Given the description of an element on the screen output the (x, y) to click on. 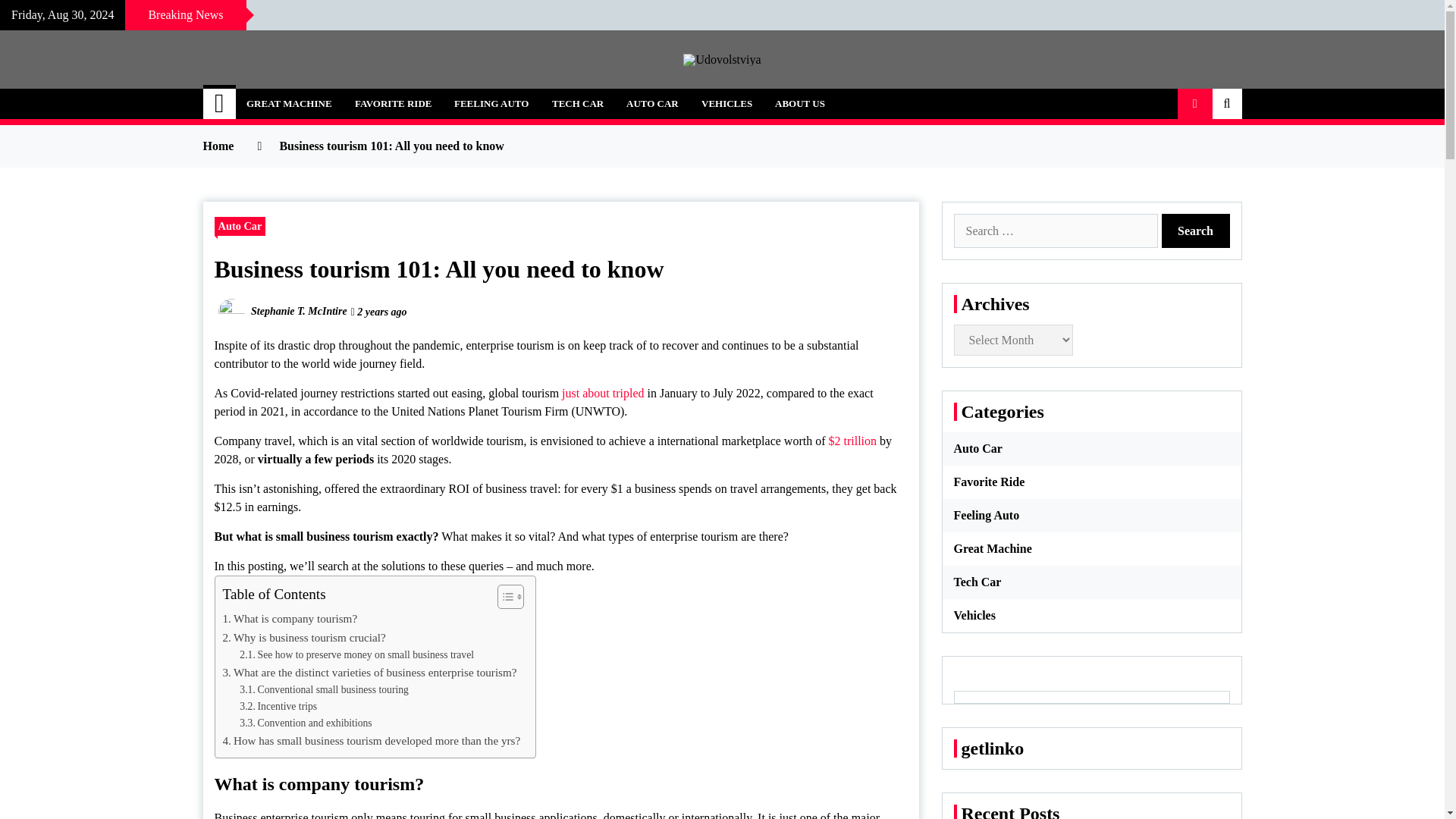
Why is business tourism crucial? (303, 637)
Udovolstviya (300, 95)
FEELING AUTO (491, 103)
See how to preserve money on small business travel (357, 655)
Search (1195, 230)
How has small business tourism developed more than the yrs? (371, 741)
VEHICLES (726, 103)
What is company tourism? (290, 618)
ABOUT US (798, 103)
